Given the description of an element on the screen output the (x, y) to click on. 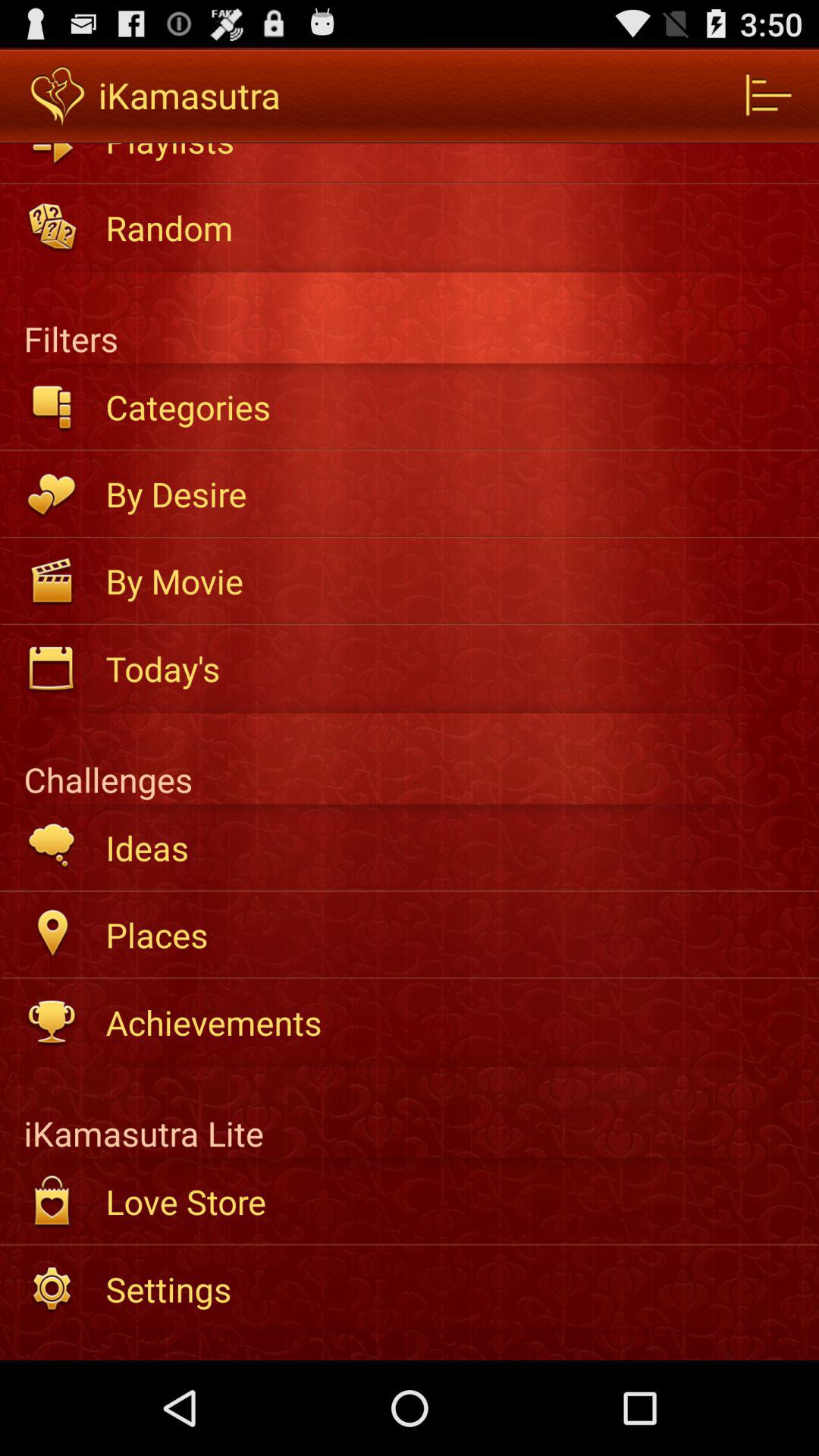
press the icon below the playlists icon (452, 227)
